Given the description of an element on the screen output the (x, y) to click on. 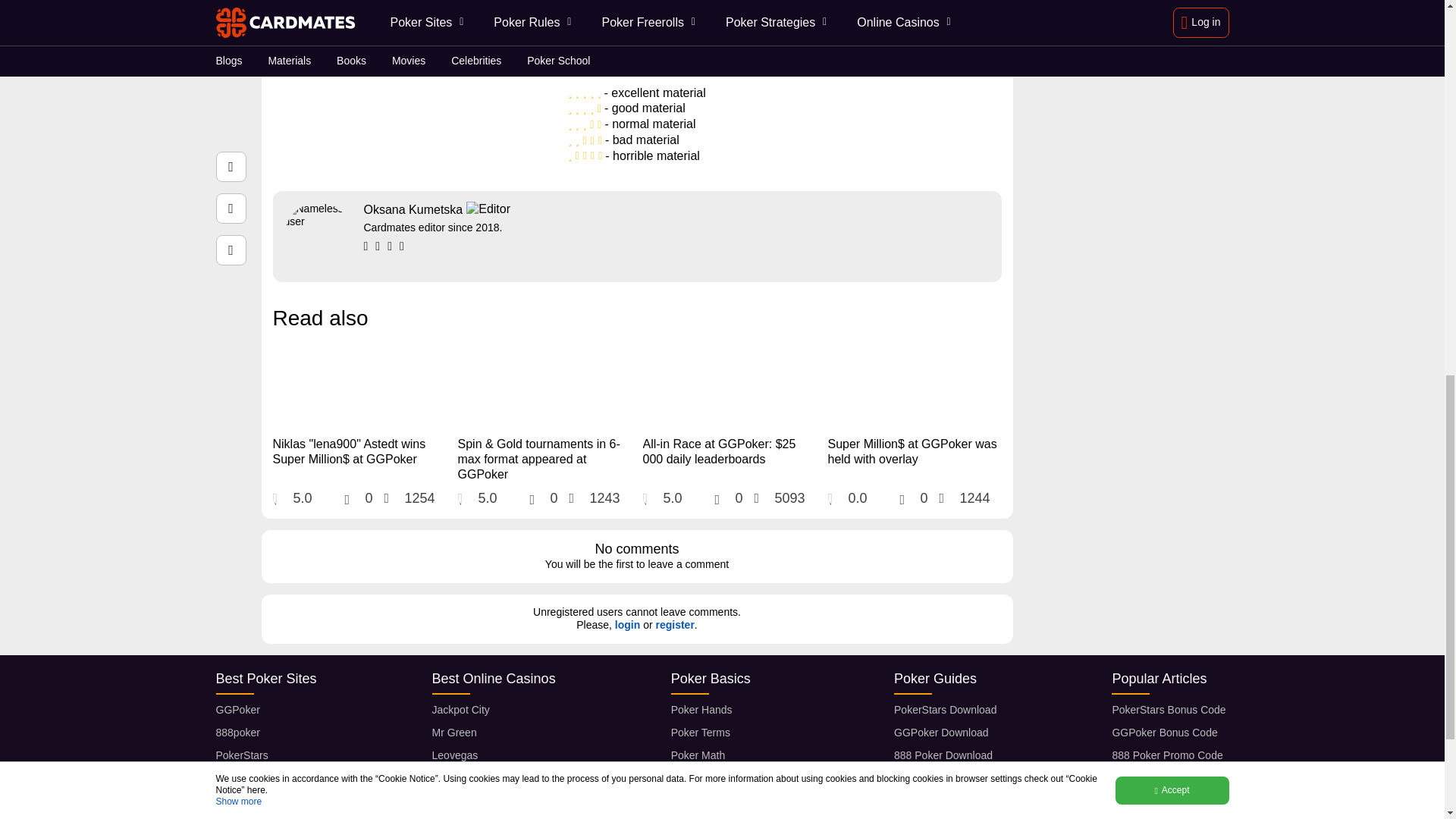
Grade 4 from 5 (654, 62)
Grade 1 from 5 (601, 62)
Grade 3 from 5 (636, 62)
Grade 2 from 5 (618, 62)
Grade 5 from 5 (672, 62)
